Given the description of an element on the screen output the (x, y) to click on. 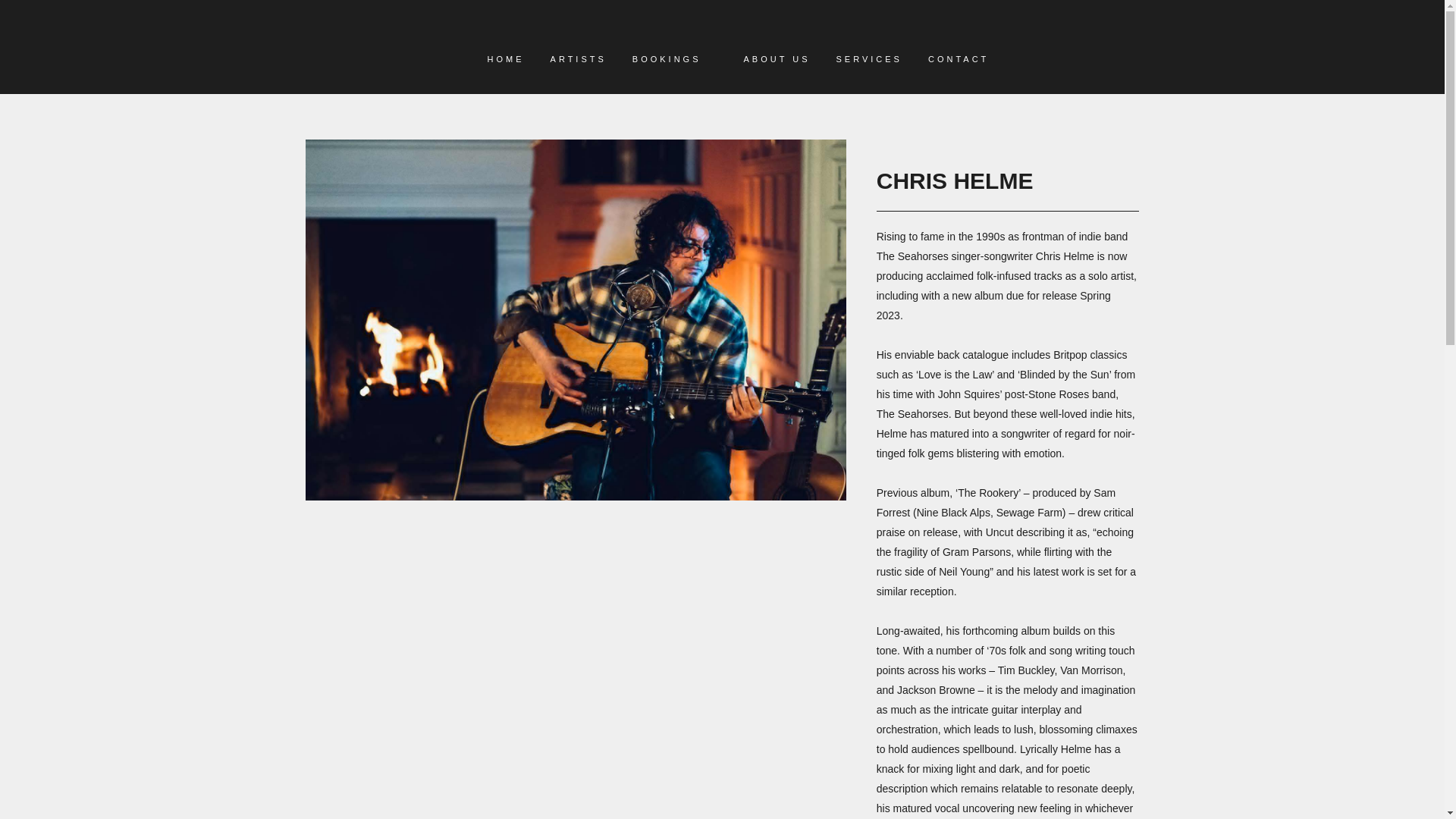
BOOKINGS (667, 59)
SERVICES (869, 59)
ABOUT US (777, 59)
ARTISTS (578, 59)
HOME (505, 59)
CONTACT (958, 59)
